Given the description of an element on the screen output the (x, y) to click on. 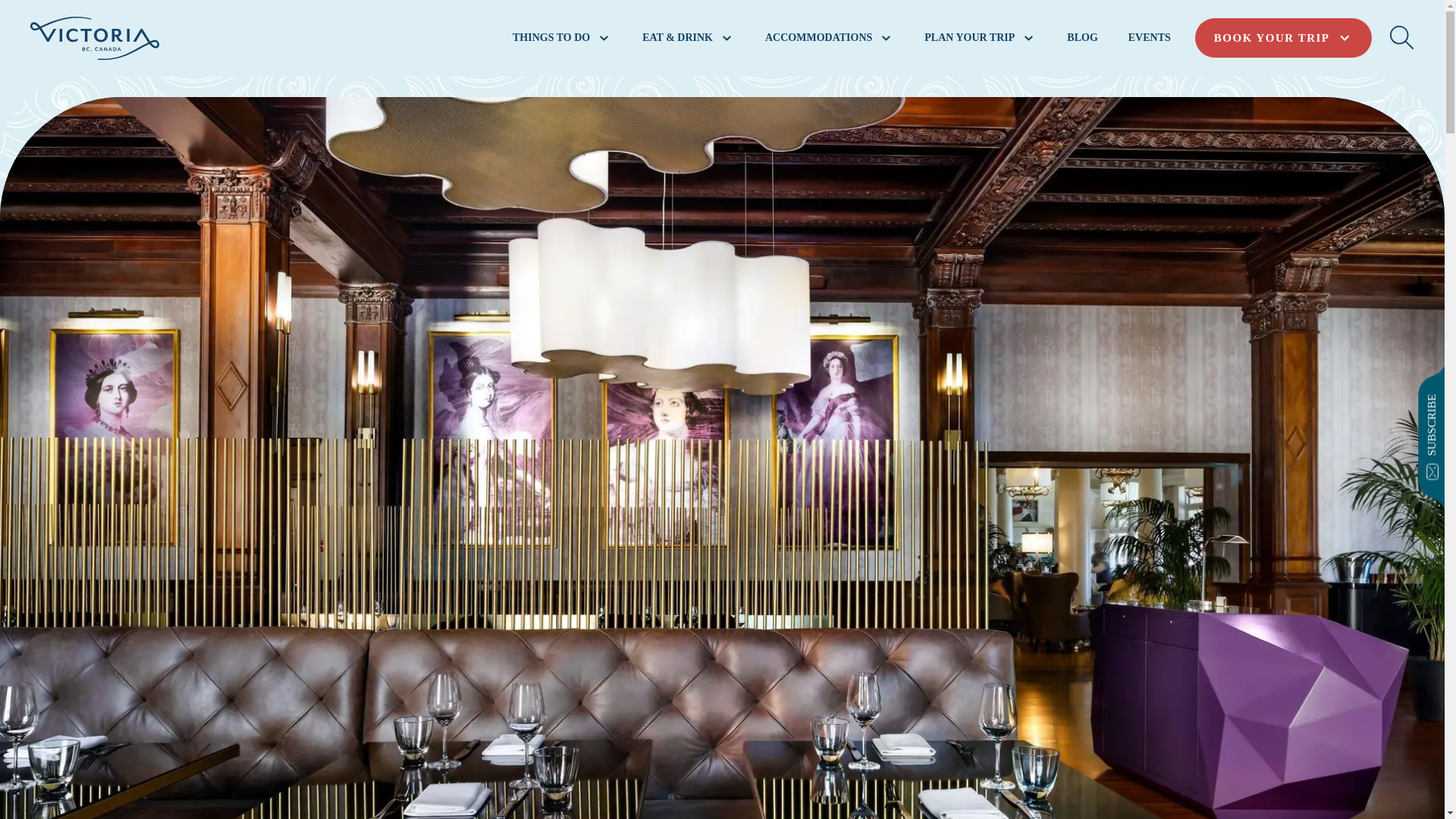
BOOK YOUR TRIP (1283, 38)
THINGS TO DO (561, 38)
PLAN YOUR TRIP (980, 38)
EVENTS (1149, 37)
ACCOMMODATIONS (828, 38)
BLOG (1082, 37)
